Given the description of an element on the screen output the (x, y) to click on. 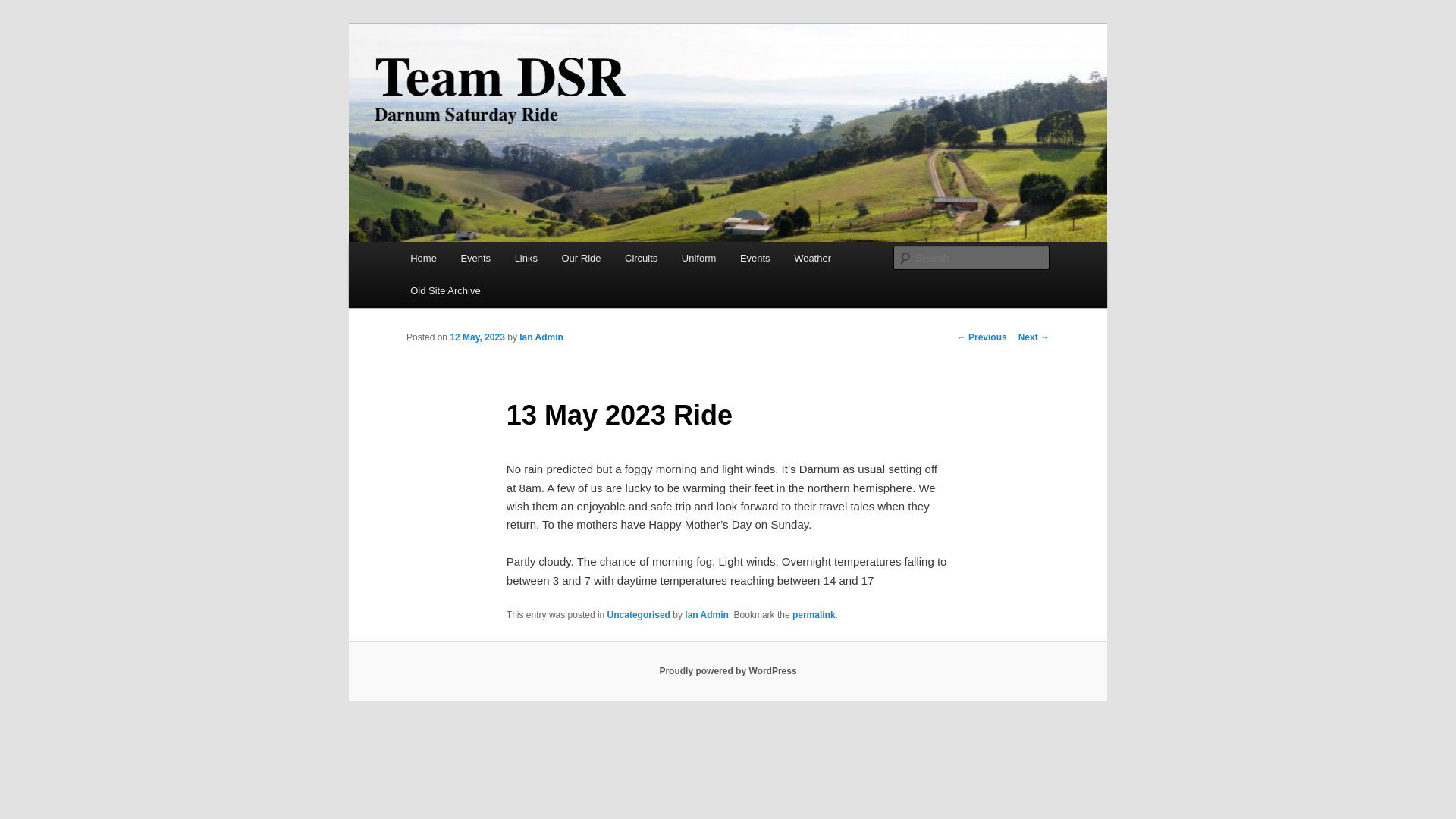
Weather (812, 257)
Old Site Archive (444, 290)
Ian Admin (541, 337)
permalink (813, 614)
Search (24, 8)
Proudly powered by WordPress (727, 670)
Permalink to 13 May 2023 Ride (813, 614)
12 May, 2023 (477, 337)
Events (754, 257)
6:21 pm (477, 337)
Links (526, 257)
Events (475, 257)
Circuits (640, 257)
Semantic Personal Publishing Platform (727, 670)
